Given the description of an element on the screen output the (x, y) to click on. 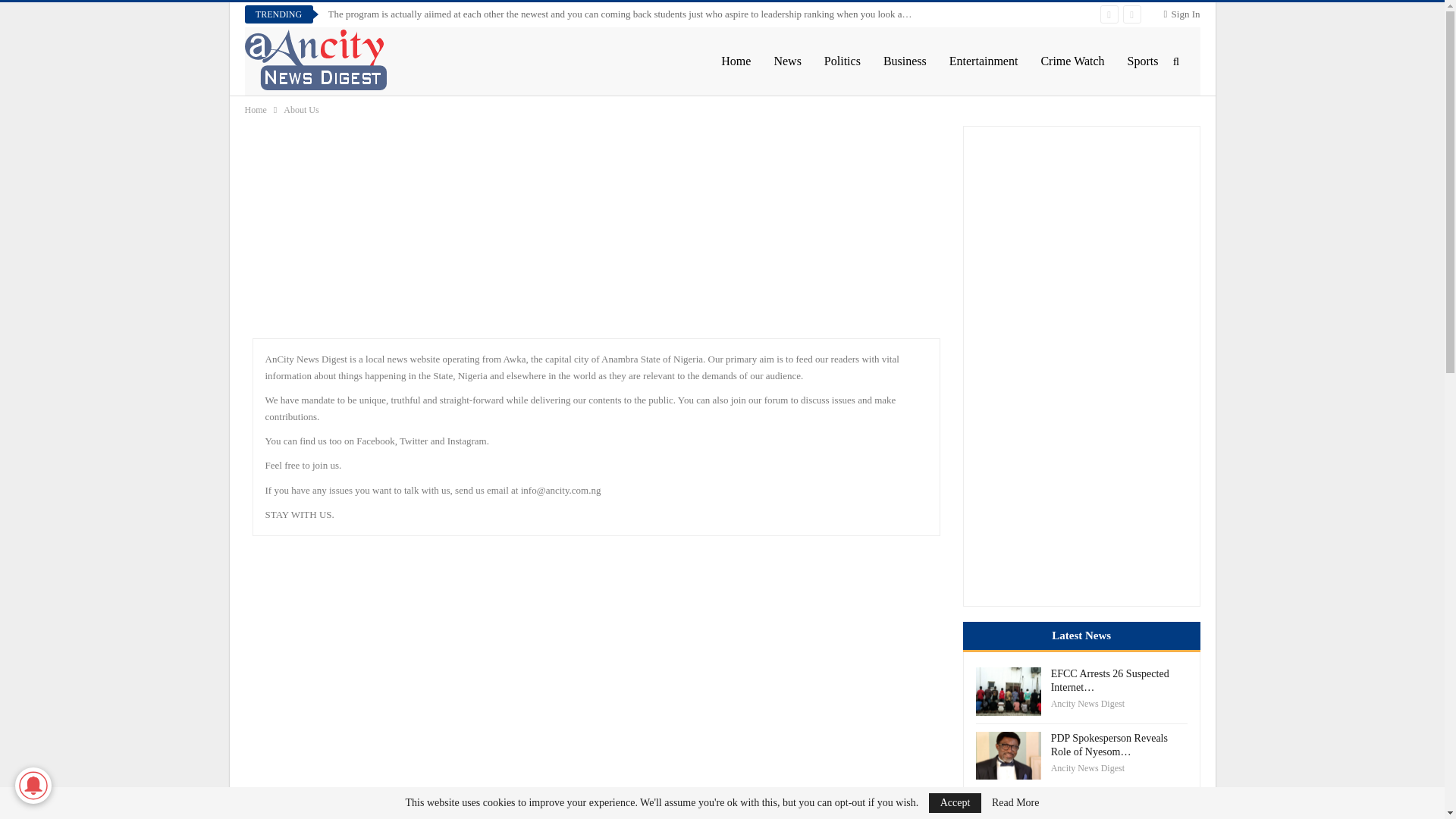
Business (904, 61)
Browse Author Articles (1087, 767)
Latest News (1080, 634)
Crime Watch (1072, 61)
Ancity News Digest (1087, 767)
Browse Author Articles (1087, 703)
Sign In (1181, 13)
Ancity News Digest (1087, 703)
Home (255, 109)
Entertainment (983, 61)
